Given the description of an element on the screen output the (x, y) to click on. 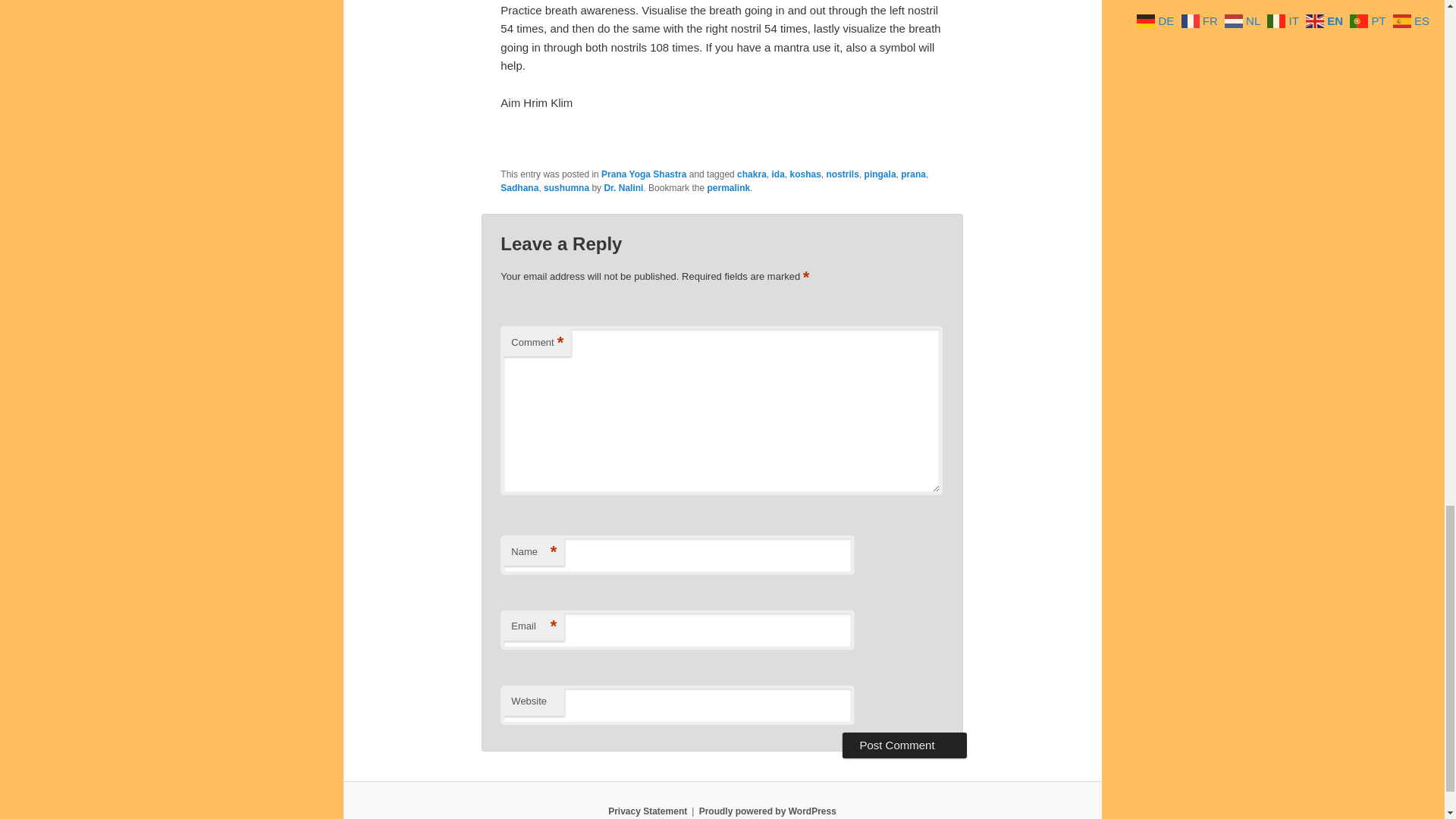
nostrils (843, 173)
prana (913, 173)
Semantic Personal Publishing Platform (766, 810)
Post Comment (904, 745)
chakra (751, 173)
Sadhana (519, 187)
pingala (880, 173)
Prana Yoga Shastra (643, 173)
Dr. Nalini (623, 187)
Proudly powered by WordPress (766, 810)
